Given the description of an element on the screen output the (x, y) to click on. 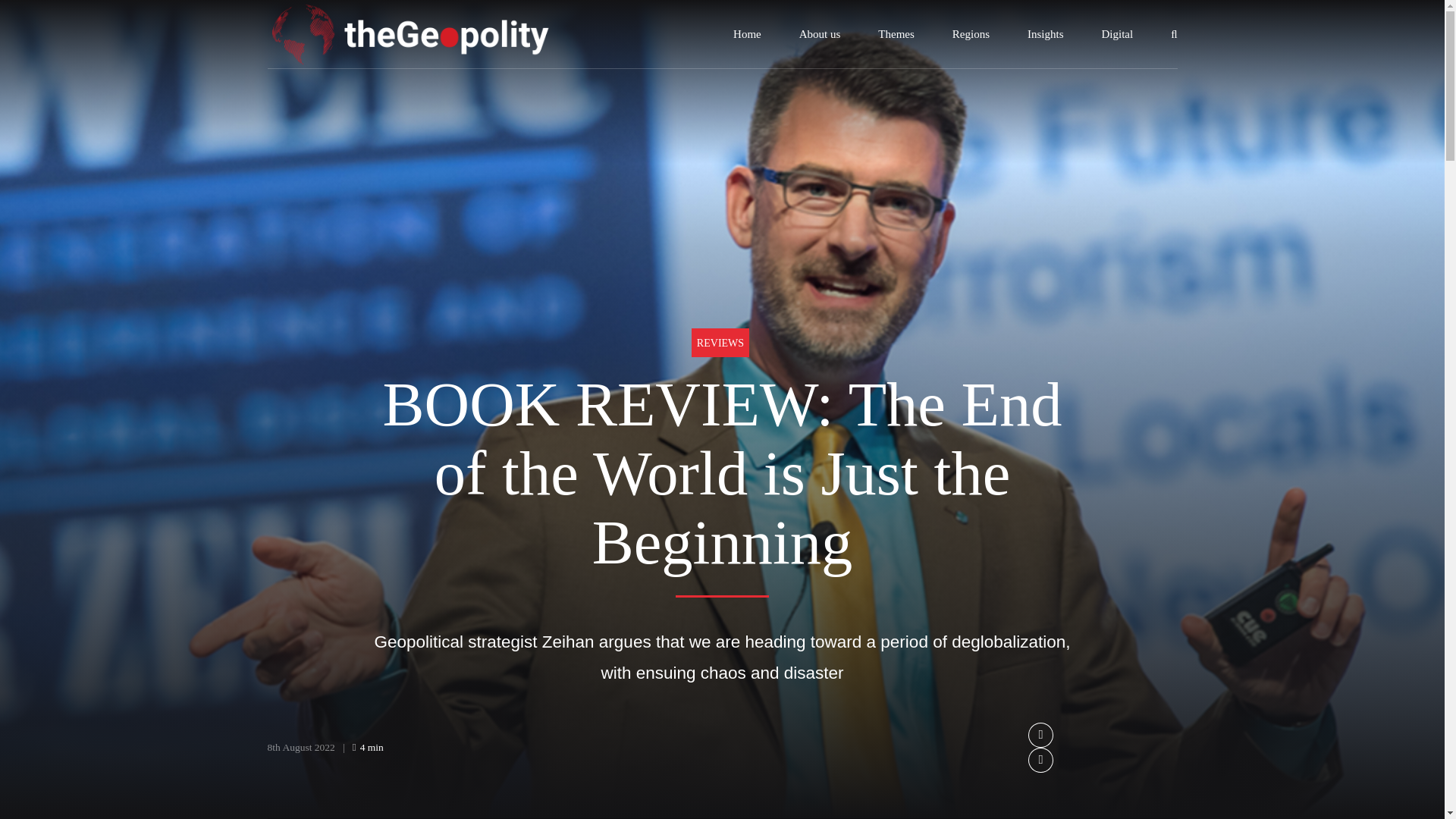
Share on Facebook (1039, 734)
REVIEWS (720, 342)
Share on Twitter (1039, 760)
